Given the description of an element on the screen output the (x, y) to click on. 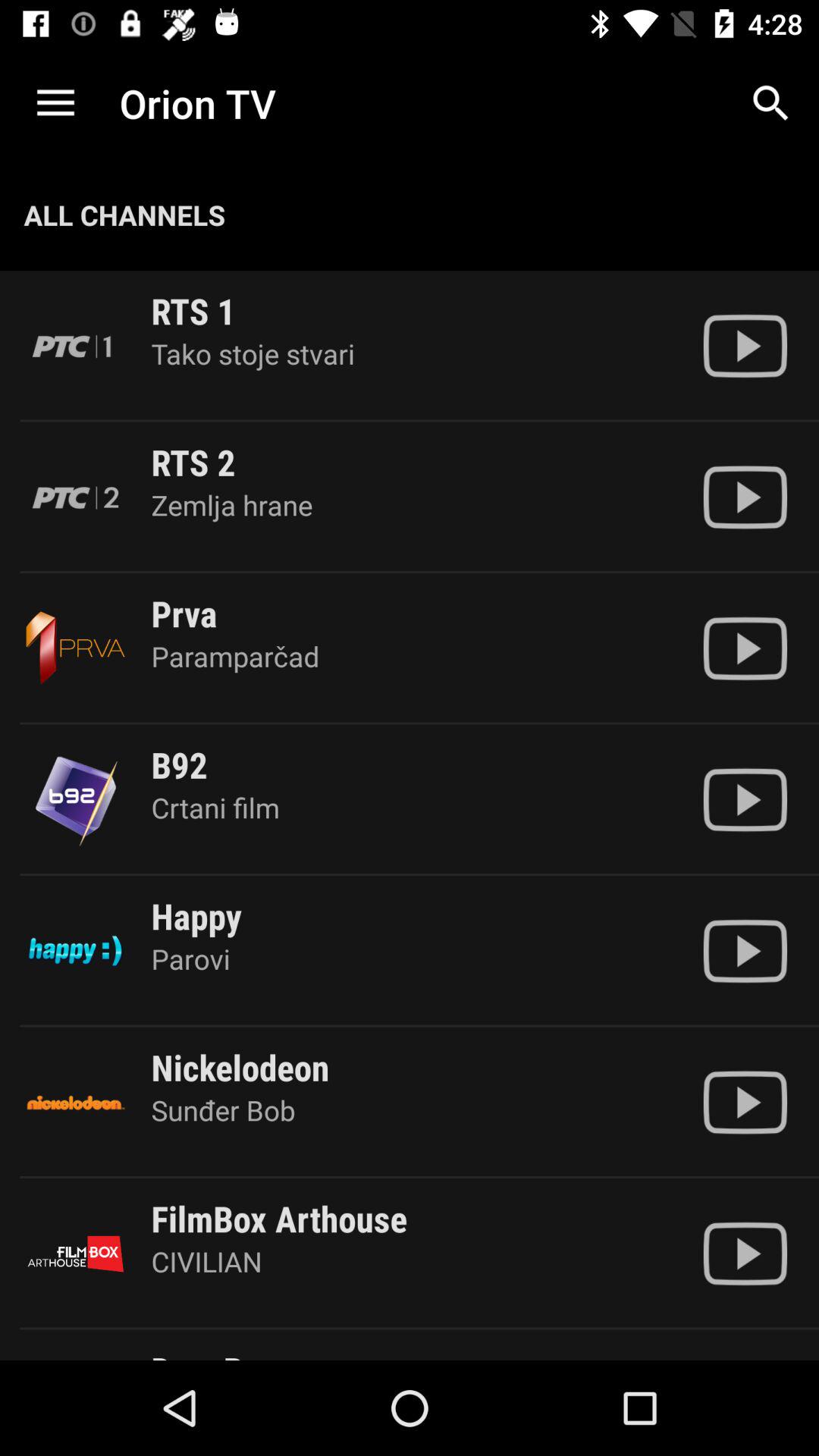
play selection (745, 1102)
